Given the description of an element on the screen output the (x, y) to click on. 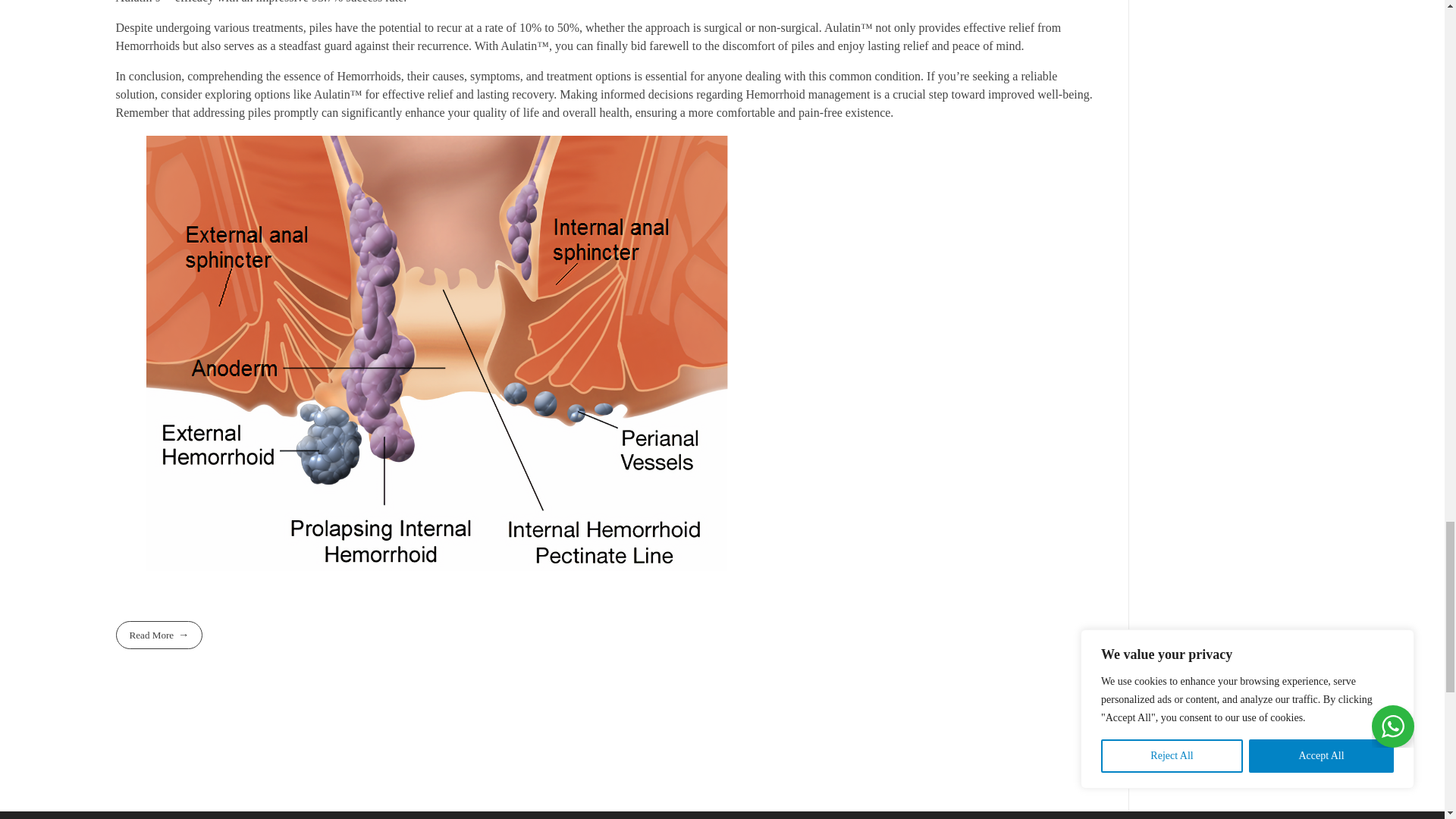
Read More (158, 634)
